Given the description of an element on the screen output the (x, y) to click on. 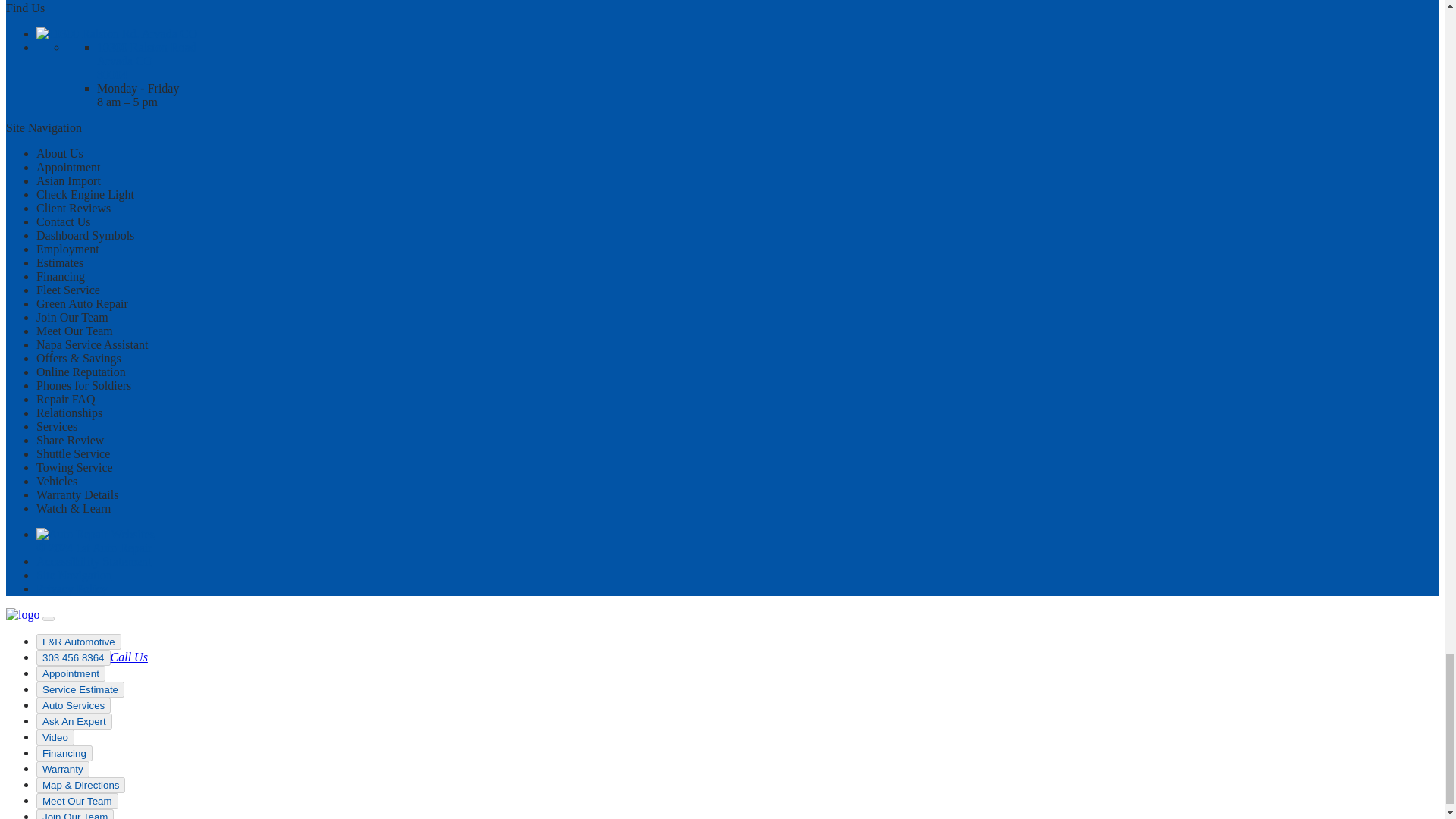
Website Navigation (74, 574)
Accessibility Statement (93, 561)
Auto Repair Websites (95, 540)
